Given the description of an element on the screen output the (x, y) to click on. 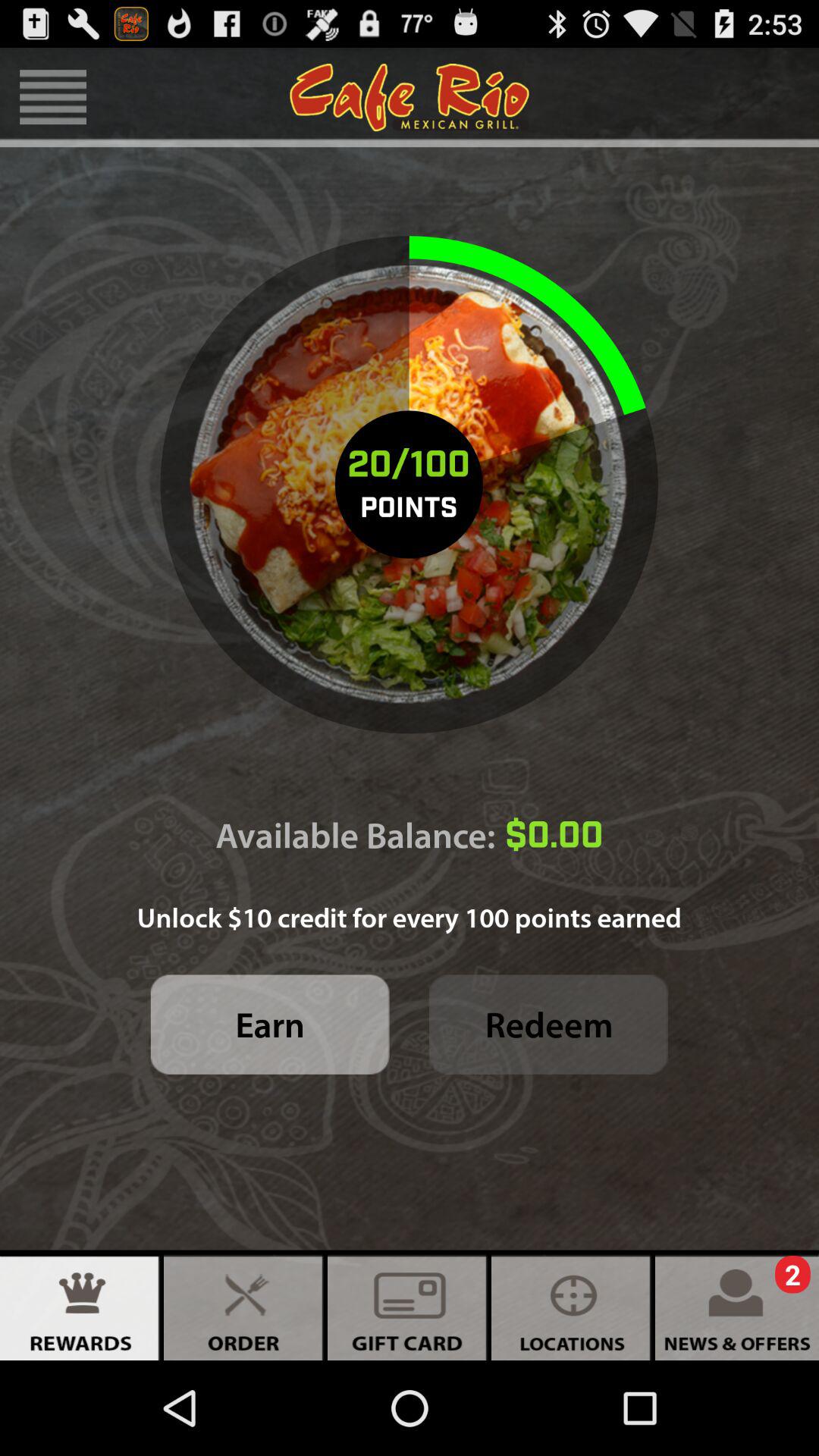
swipe until the redeem icon (548, 1024)
